Given the description of an element on the screen output the (x, y) to click on. 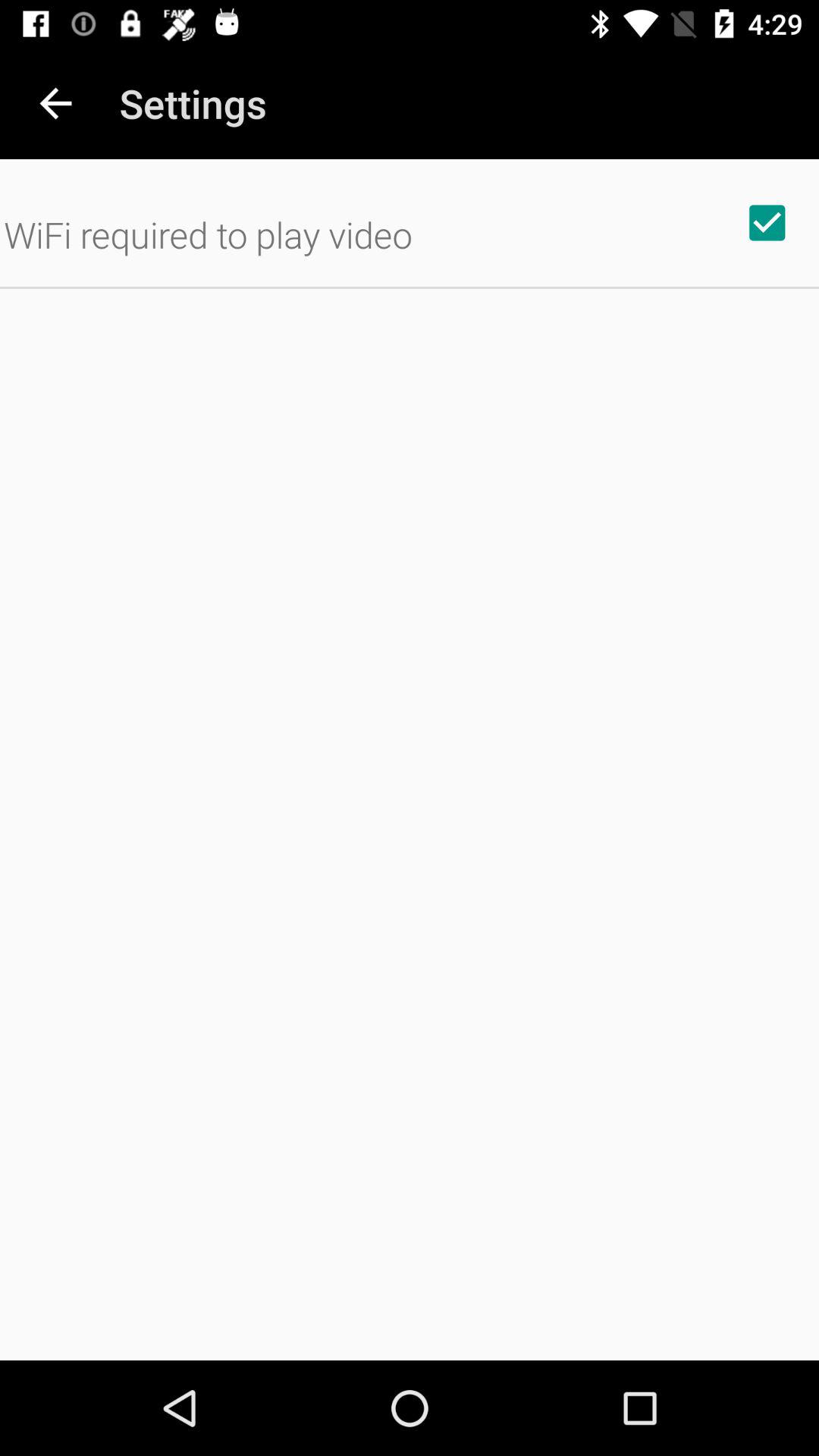
jump to the wifi required to item (207, 234)
